Given the description of an element on the screen output the (x, y) to click on. 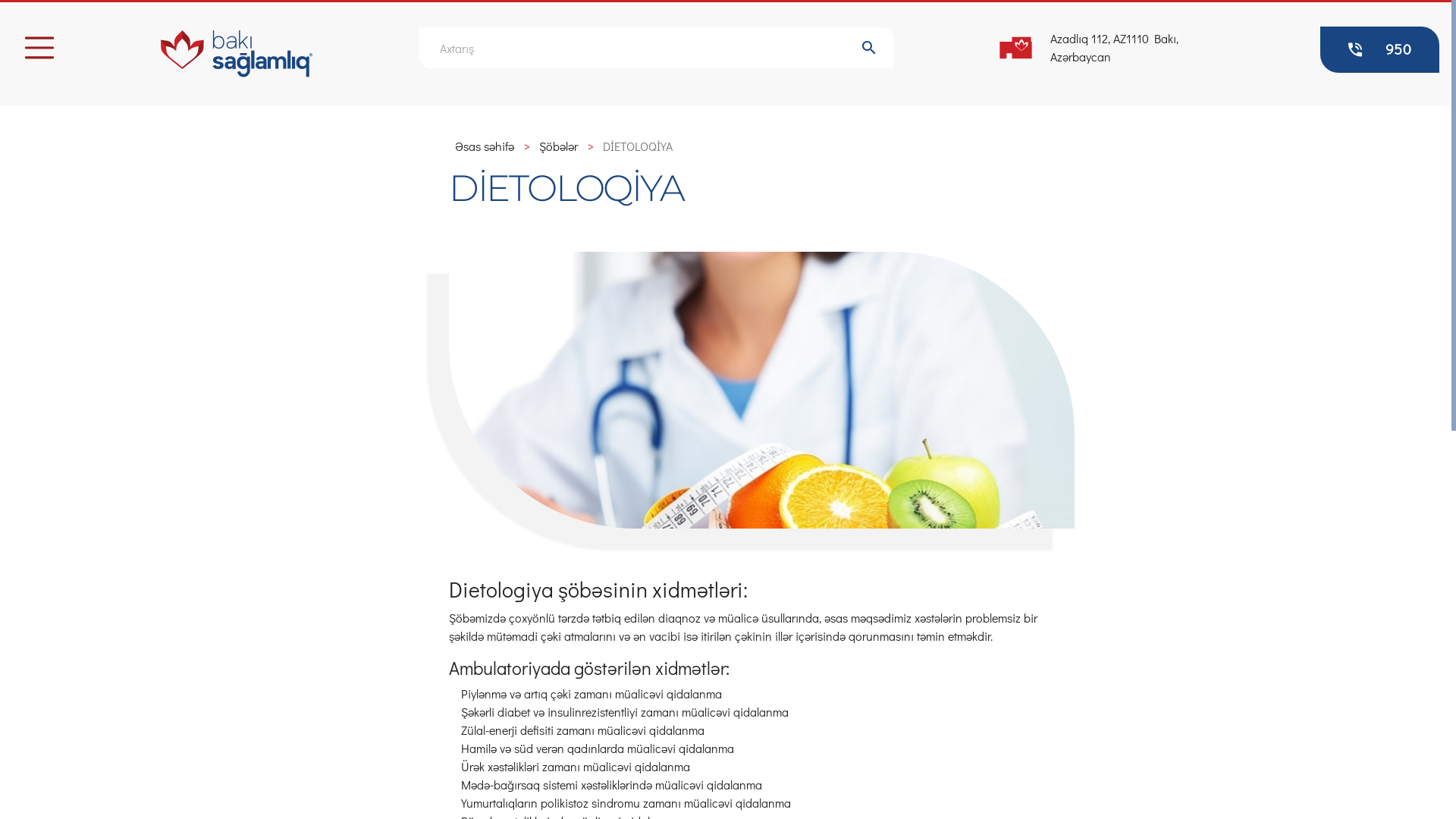
950 Element type: text (1379, 49)
